Given the description of an element on the screen output the (x, y) to click on. 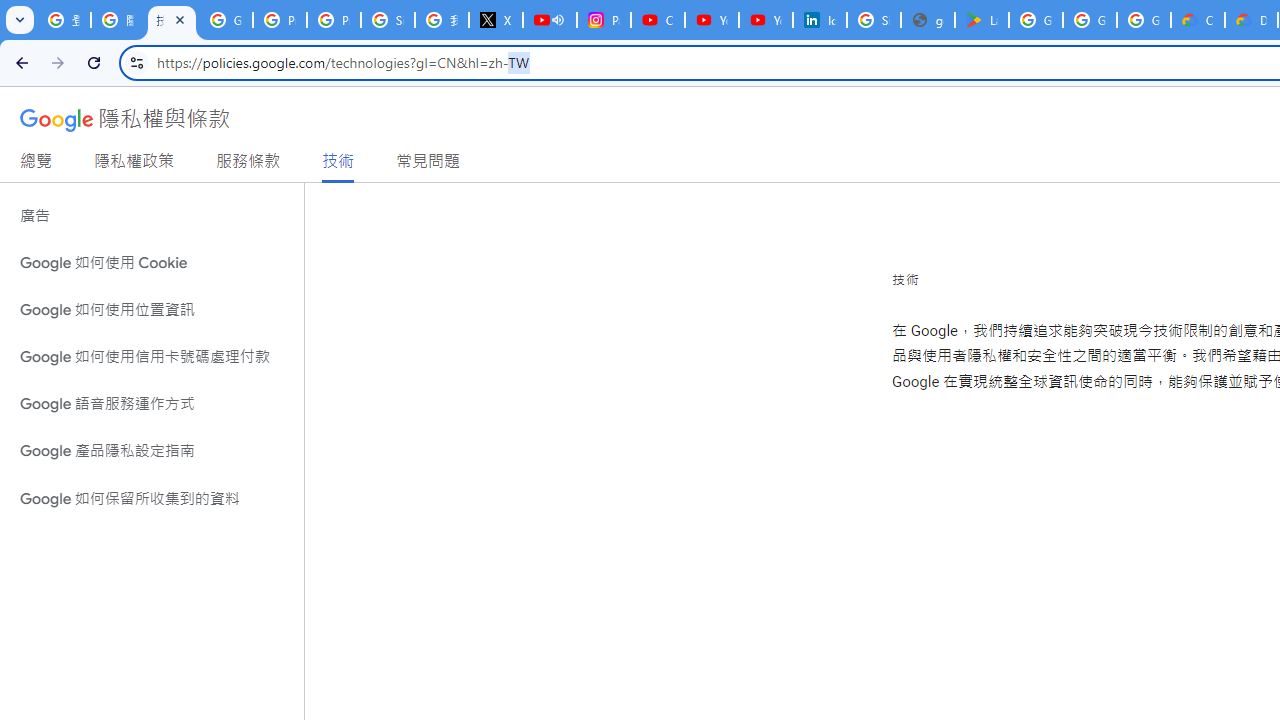
Last Shelter: Survival - Apps on Google Play (981, 20)
Sign in - Google Accounts (387, 20)
X (495, 20)
